Given the description of an element on the screen output the (x, y) to click on. 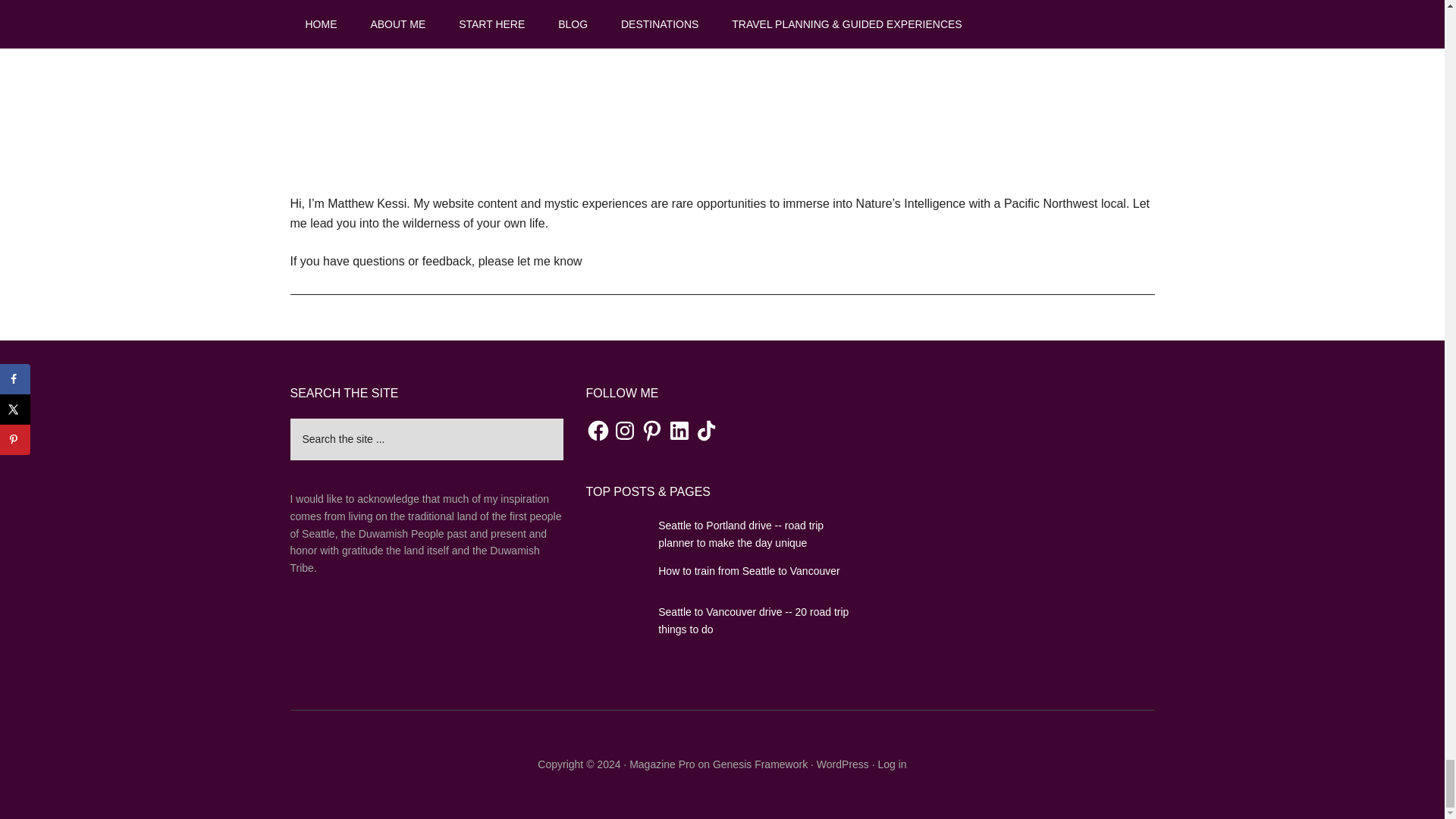
Seattle to Vancouver drive -- 20 road trip things to do (753, 620)
How to train from Seattle to Vancouver (749, 571)
